Given the description of an element on the screen output the (x, y) to click on. 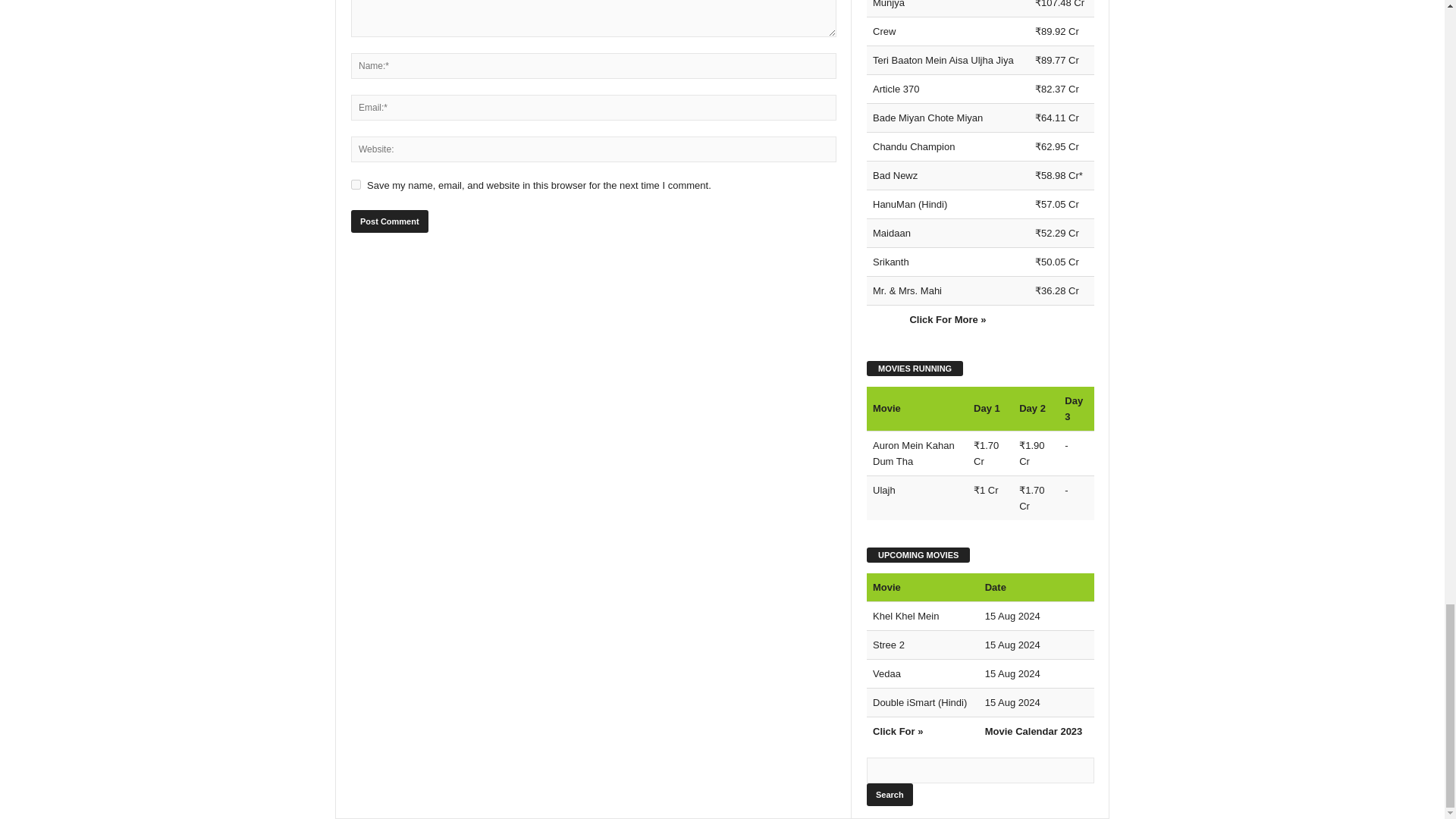
Search (889, 793)
yes (355, 184)
Post Comment (389, 220)
